Given the description of an element on the screen output the (x, y) to click on. 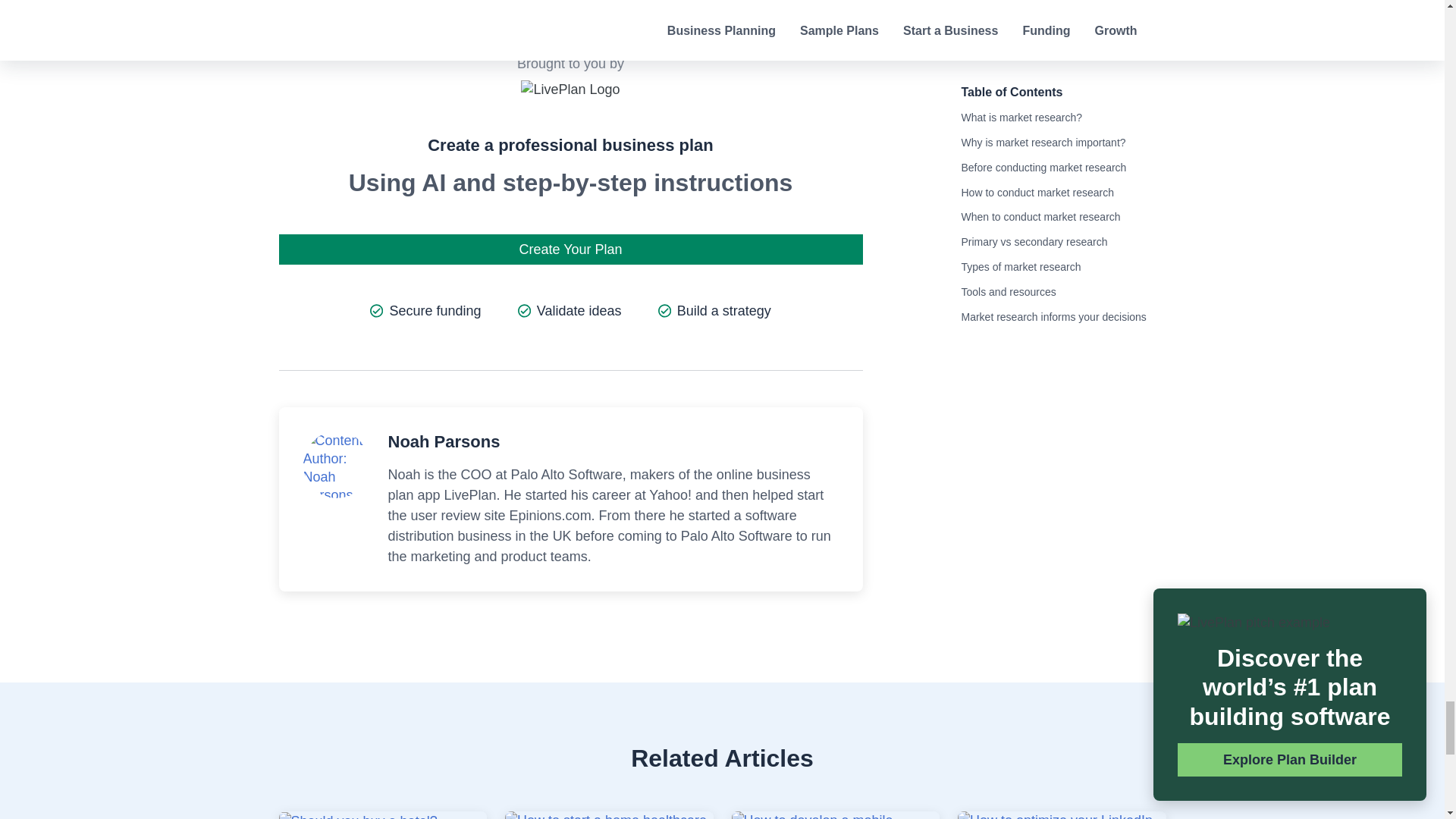
Should you buy a hotel? (358, 815)
How to optimize your LinkedIn presence (1062, 815)
How to develop a mobile healthcare app (834, 815)
How to start a home healthcare business (609, 815)
Content Author: Noah Parsons (335, 466)
